Given the description of an element on the screen output the (x, y) to click on. 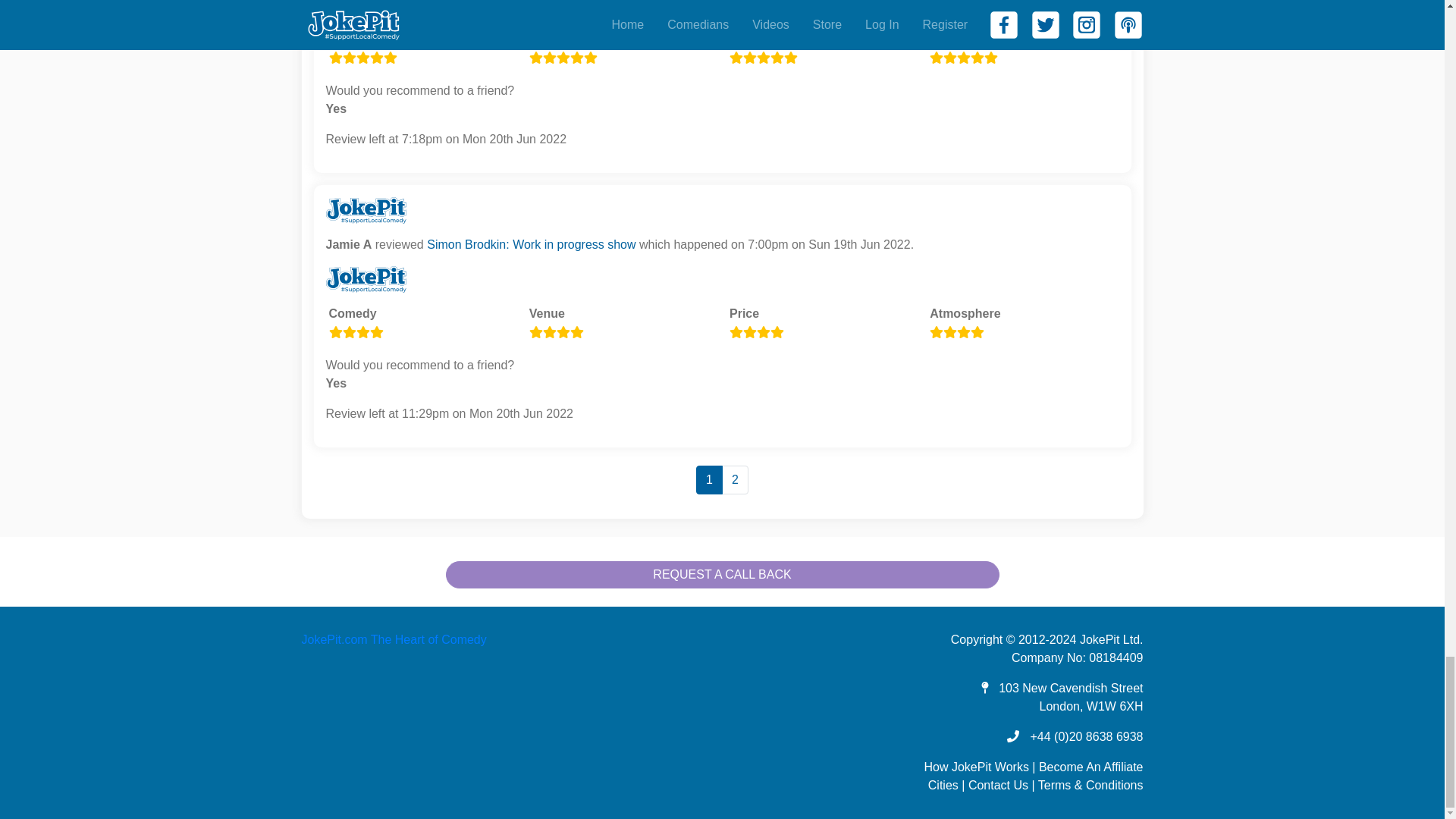
2 (735, 480)
Simon Brodkin: Work in progress show (530, 244)
1 (708, 480)
REQUEST A CALL BACK (721, 574)
